Given the description of an element on the screen output the (x, y) to click on. 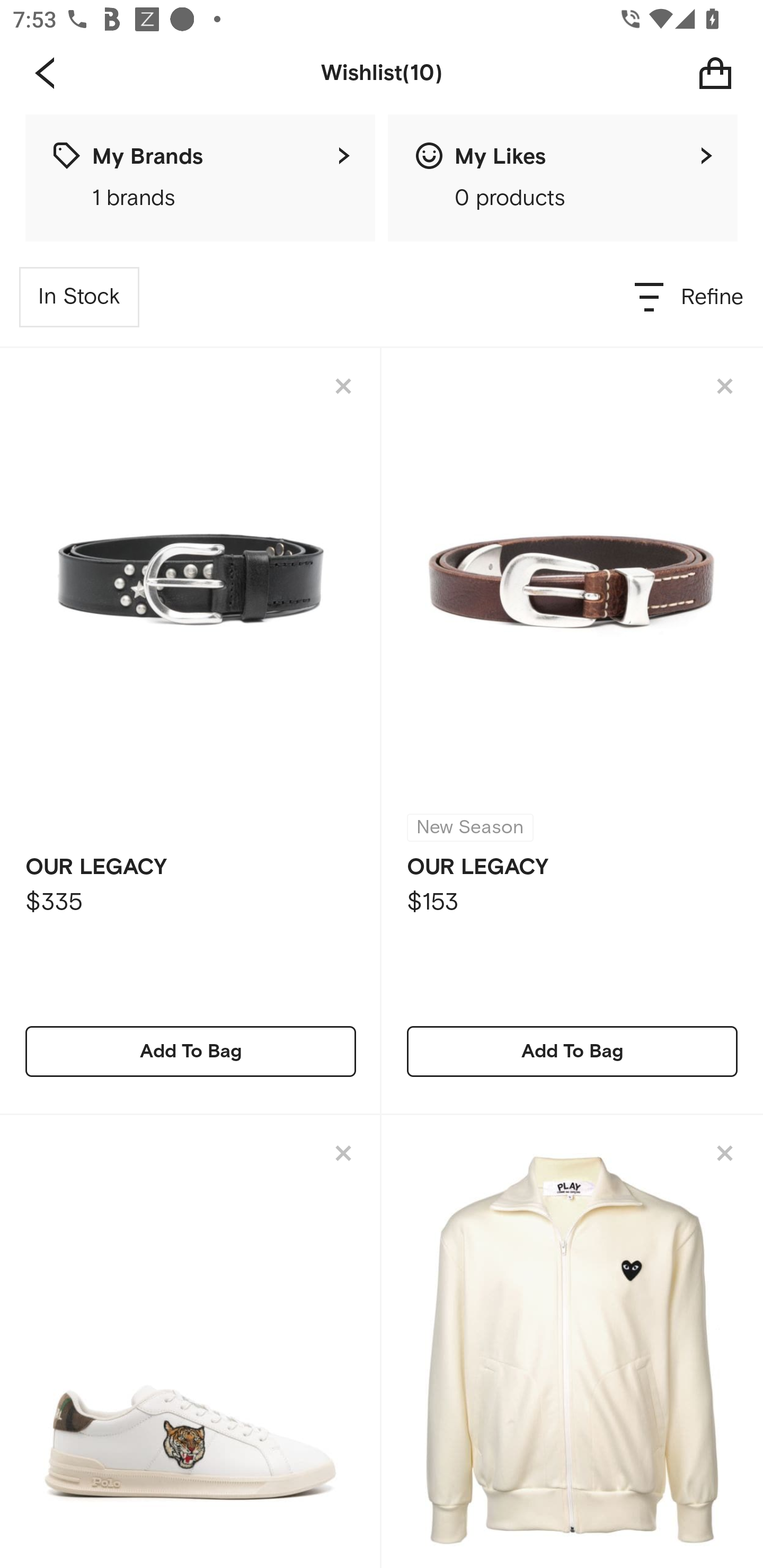
My Brands 1 brands (200, 177)
My Likes 0 products (562, 177)
In Stock (79, 296)
Refine (690, 296)
OUR LEGACY $335 Add To Bag (190, 731)
New Season OUR LEGACY $153 Add To Bag (572, 731)
Add To Bag (190, 1050)
Add To Bag (571, 1050)
